Given the description of an element on the screen output the (x, y) to click on. 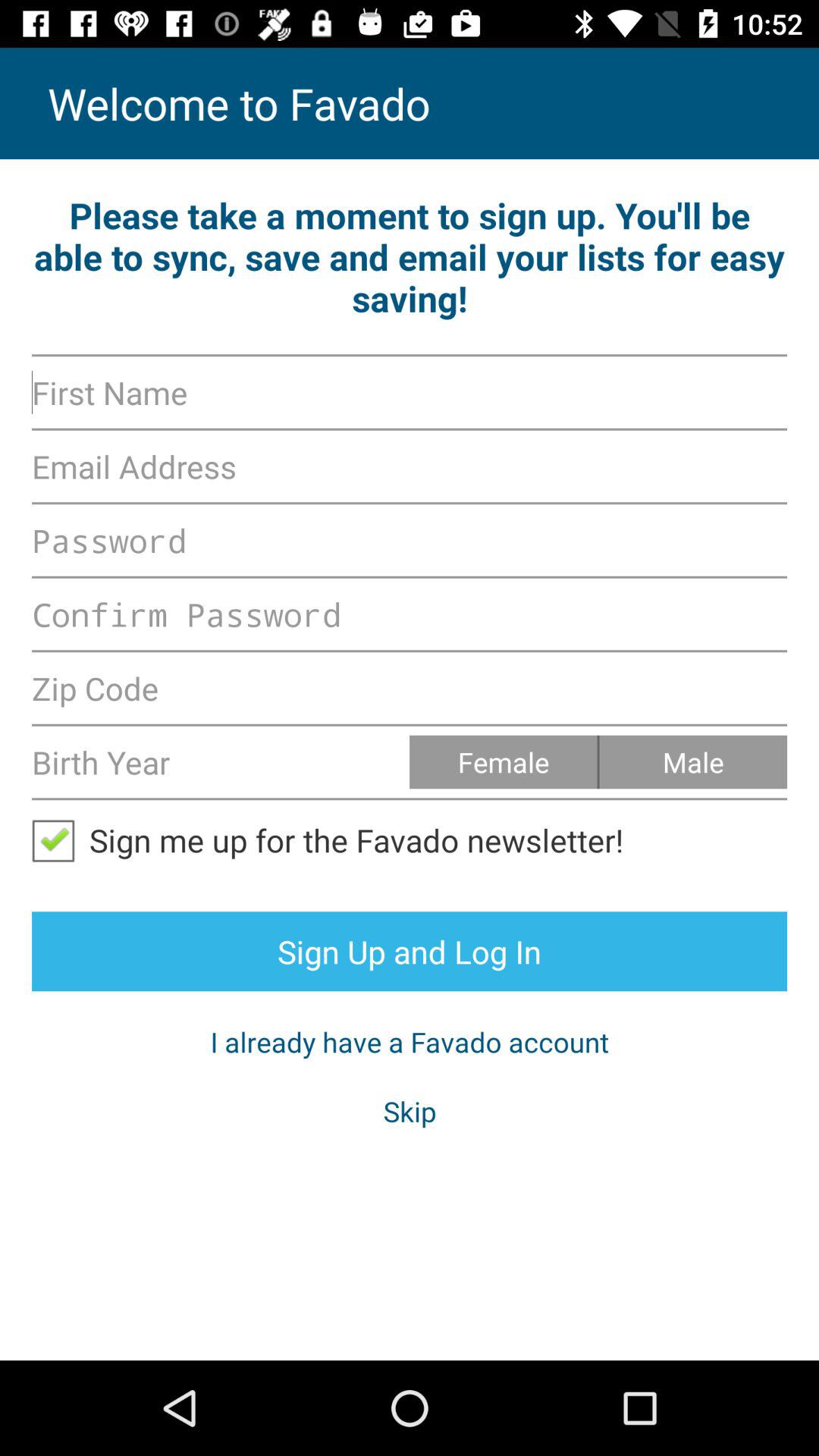
enter password field (409, 540)
